Given the description of an element on the screen output the (x, y) to click on. 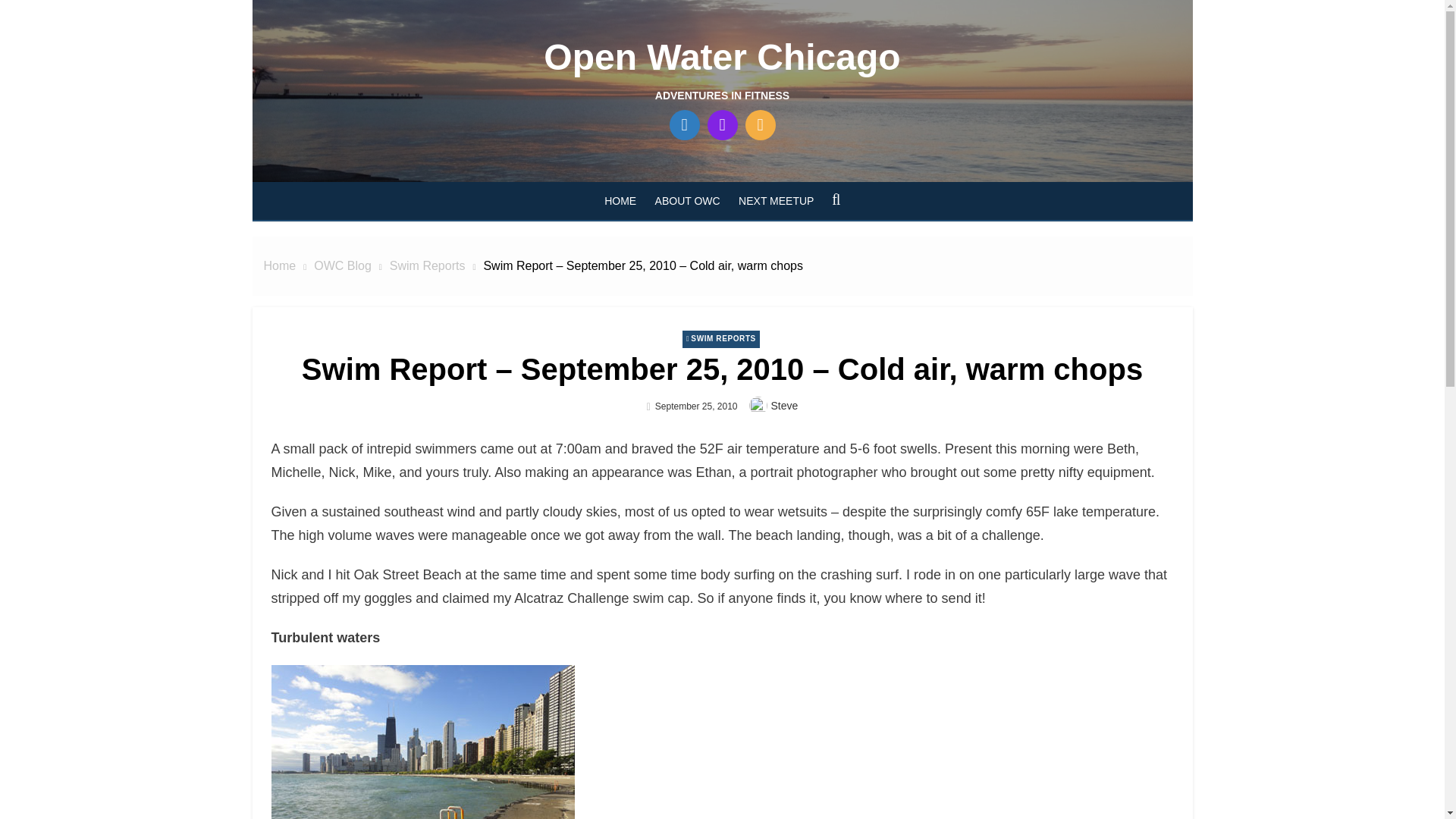
Steve (784, 405)
SWIM REPORTS (720, 339)
OWC Blog (342, 265)
Swim Reports (427, 265)
Open Water Chicago (721, 56)
ABOUT OWC (687, 200)
September 25, 2010 (696, 406)
HOME (619, 200)
Home (280, 265)
NEXT MEETUP (775, 200)
